Given the description of an element on the screen output the (x, y) to click on. 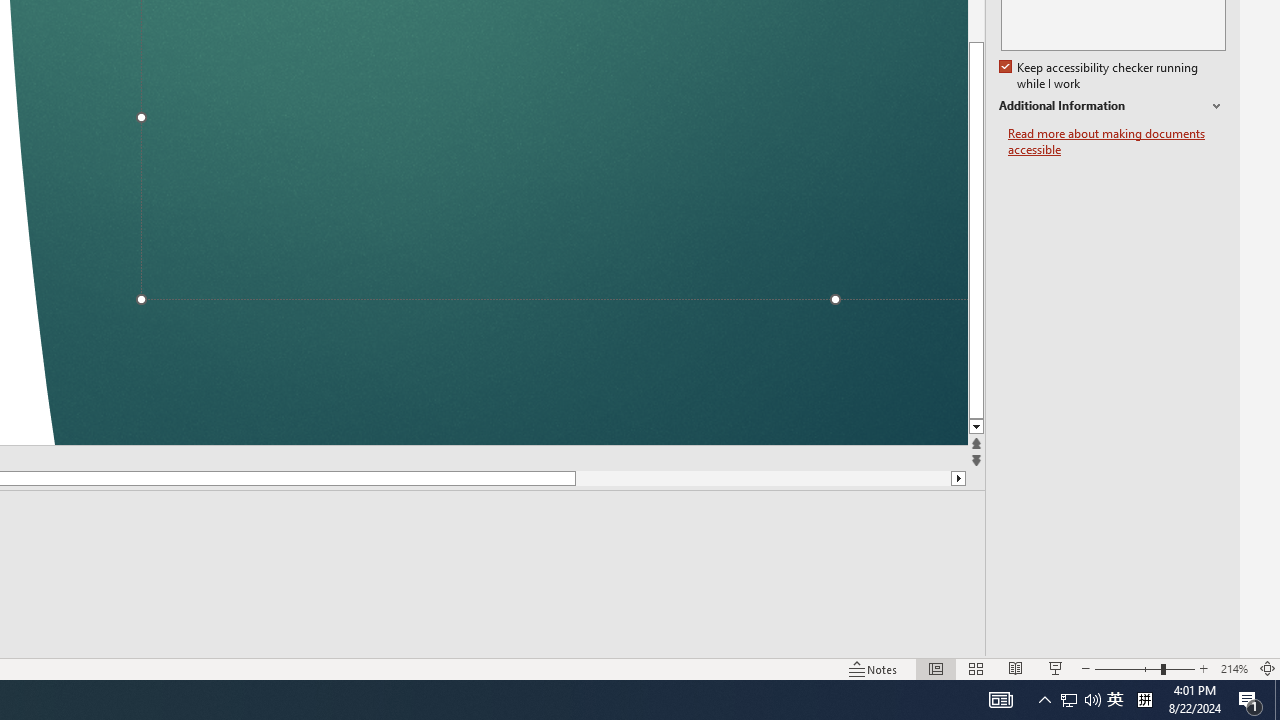
Zoom 214% (1234, 668)
